Given the description of an element on the screen output the (x, y) to click on. 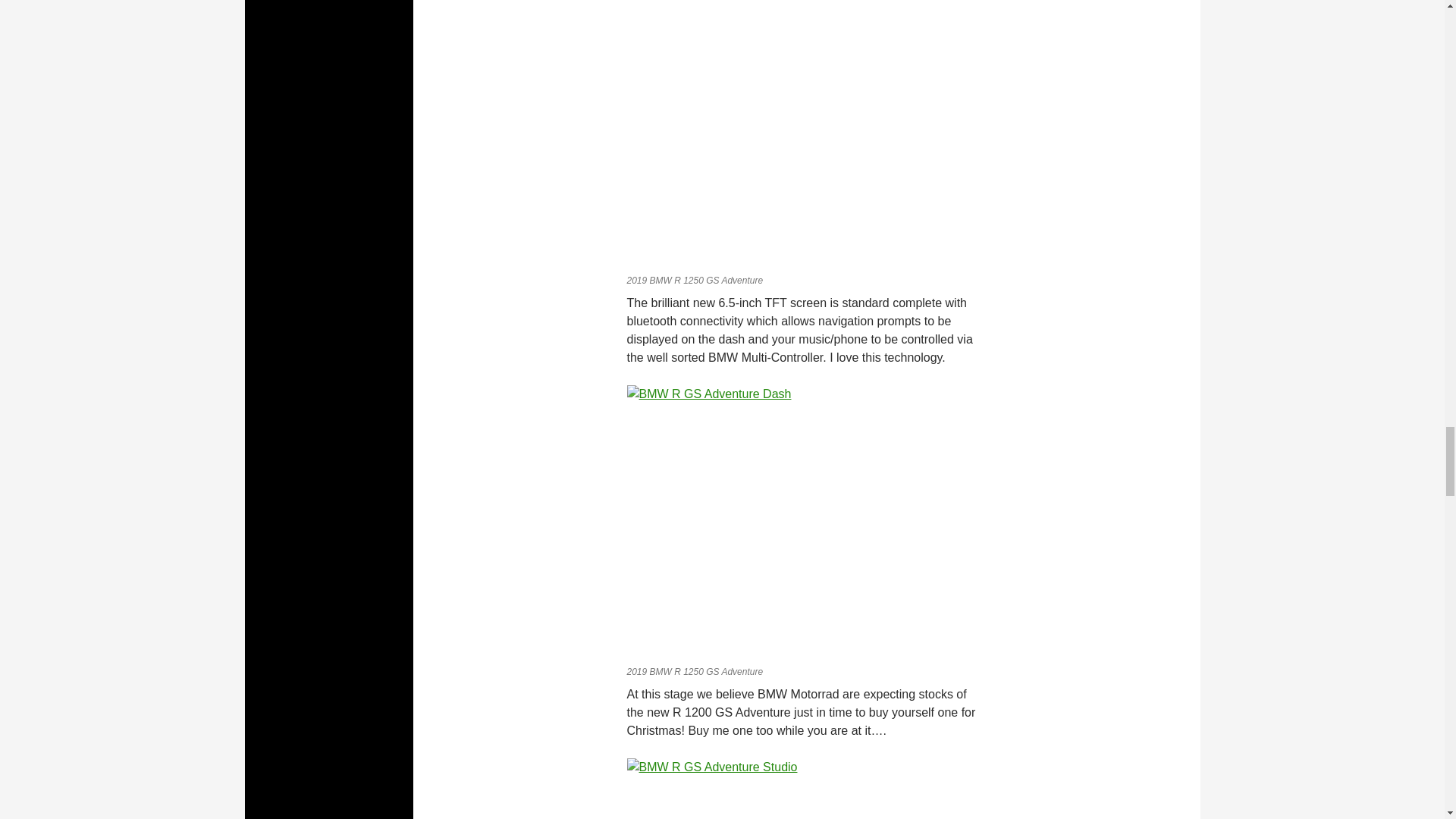
BMW R GS Adventure Studio Exclusive (805, 133)
BMW R GS Adventure Studio (805, 788)
BMW R GS Adventure Dash (805, 521)
